Given the description of an element on the screen output the (x, y) to click on. 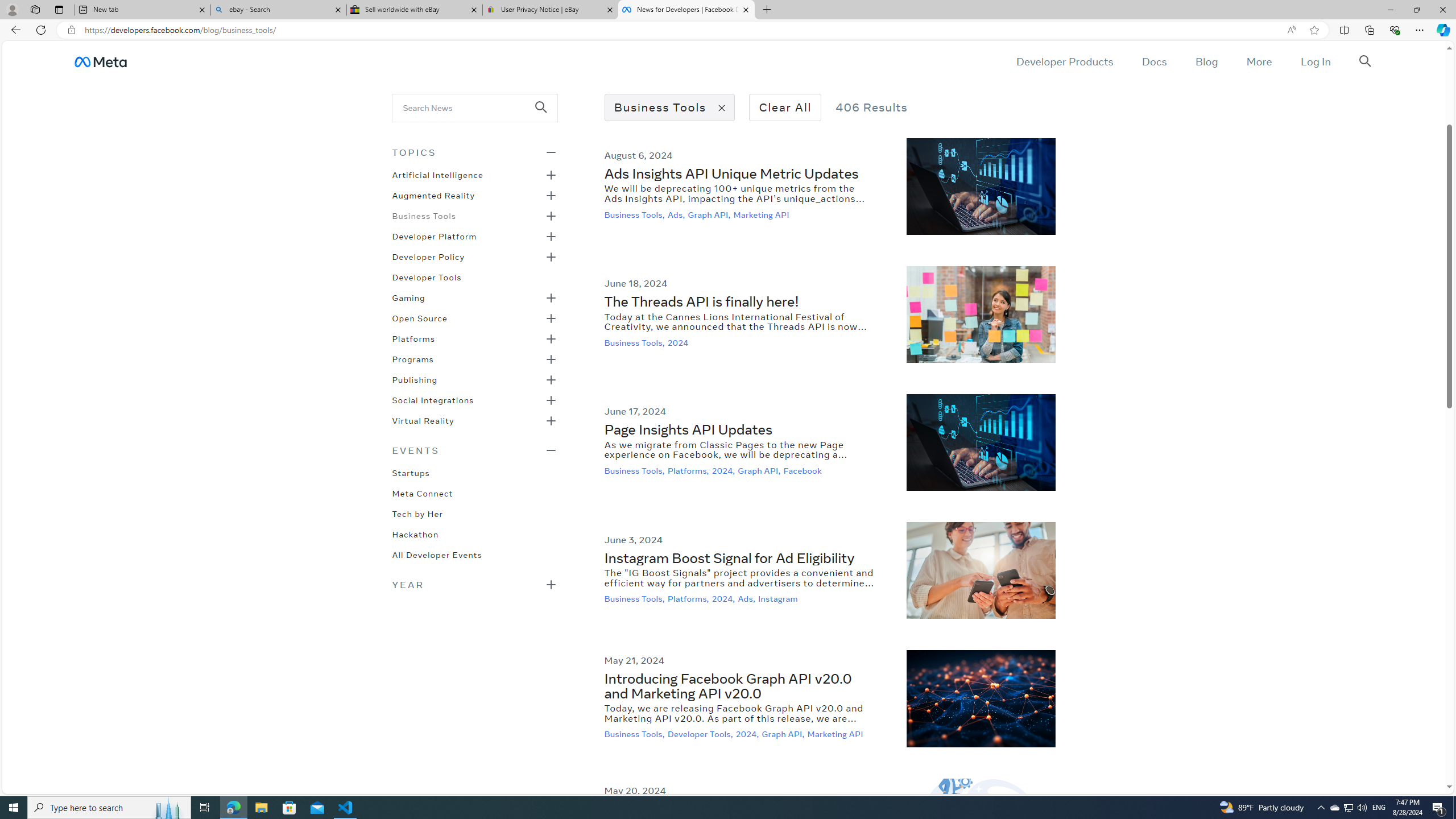
Docs (1153, 61)
News for Developers | Facebook Developers (685, 9)
Log In (1315, 61)
Business Tools (423, 214)
Class: _58al (467, 107)
Publishing (414, 378)
Developer Policy (428, 255)
2024, (748, 733)
Tech by Her (416, 512)
Platforms (413, 337)
Blog (1205, 61)
